Given the description of an element on the screen output the (x, y) to click on. 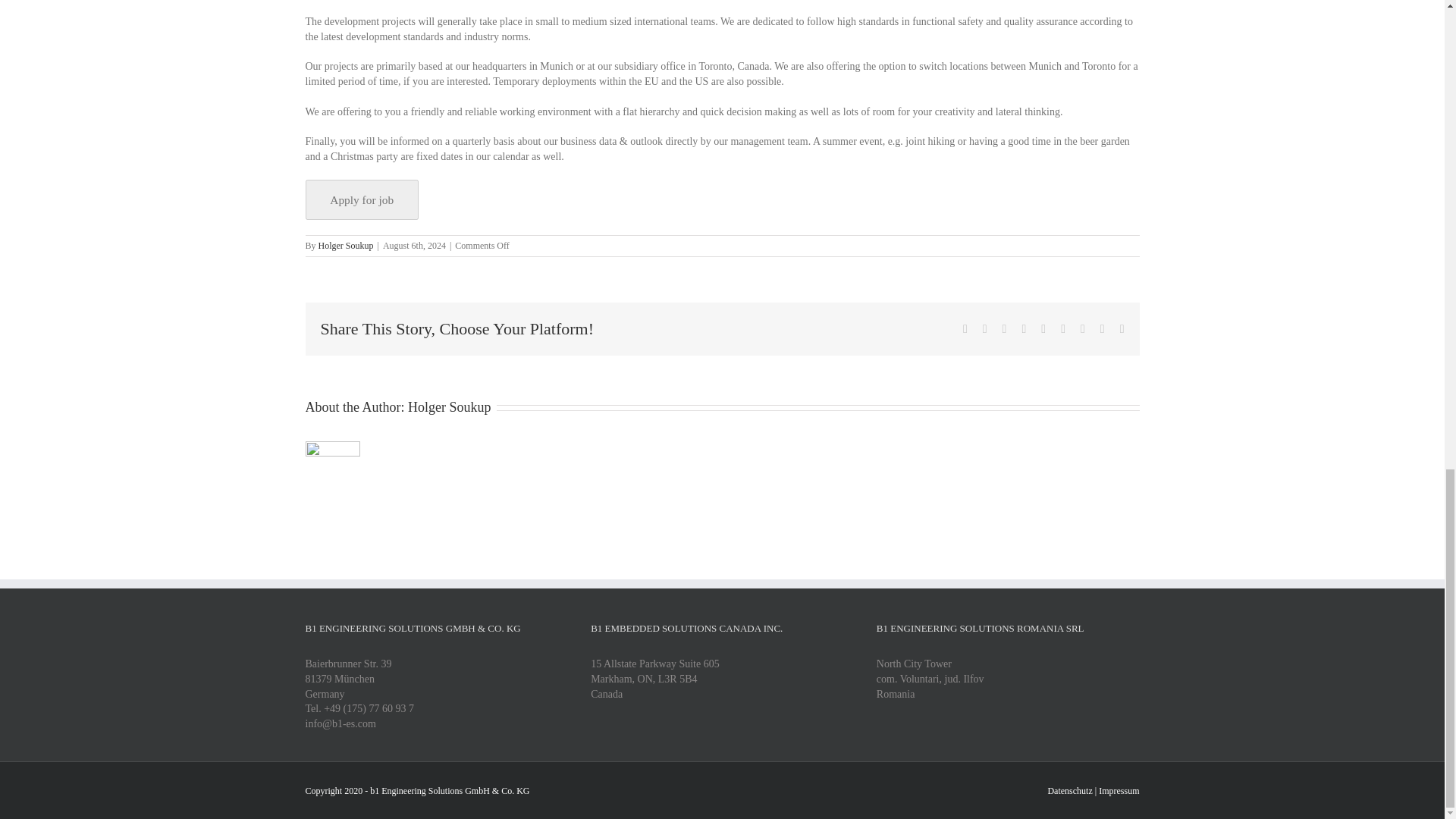
Posts by Holger Soukup (449, 406)
Apply for job (360, 199)
Posts by Holger Soukup (346, 245)
